Given the description of an element on the screen output the (x, y) to click on. 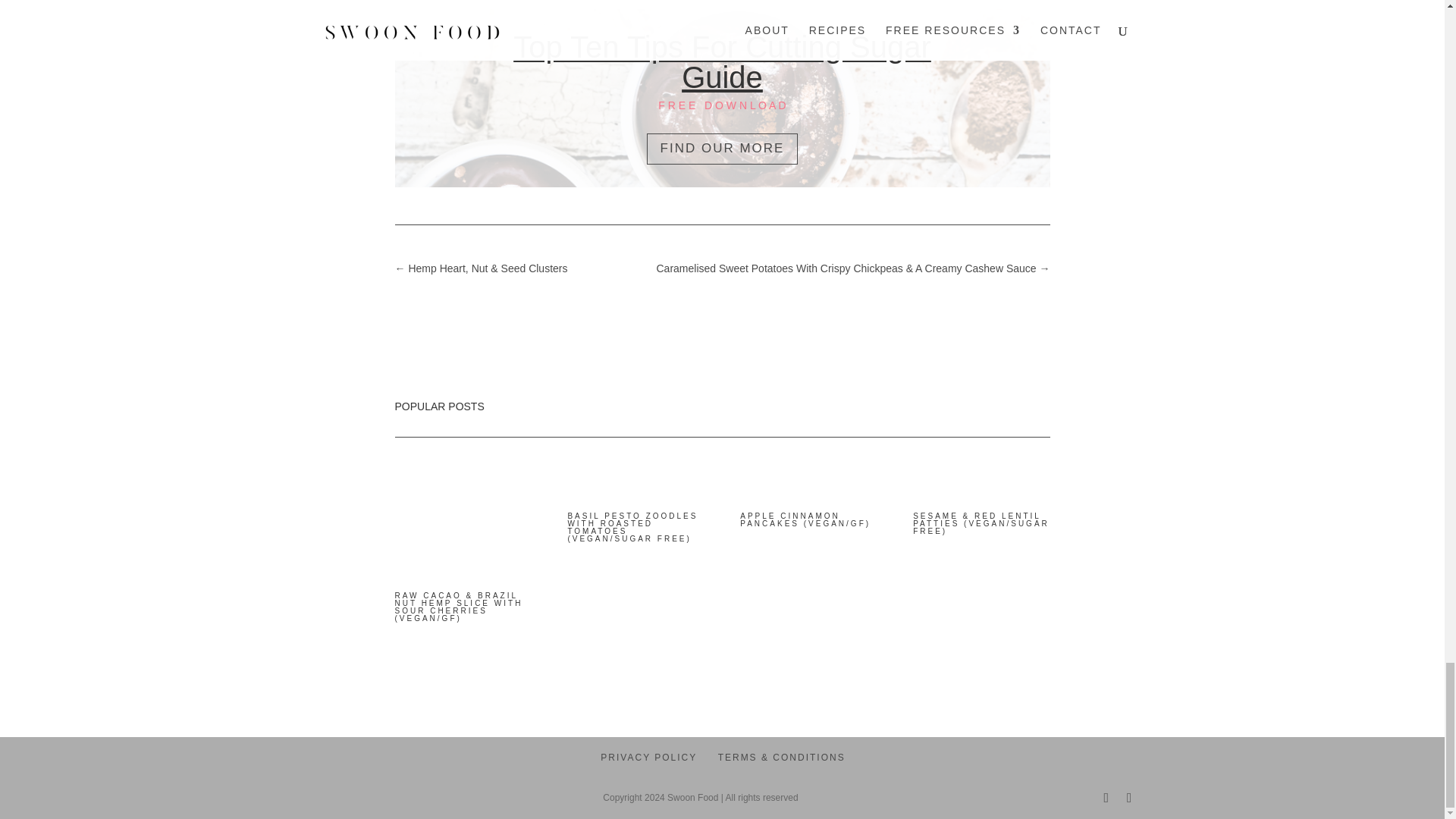
PRIVACY POLICY (648, 757)
